Given the description of an element on the screen output the (x, y) to click on. 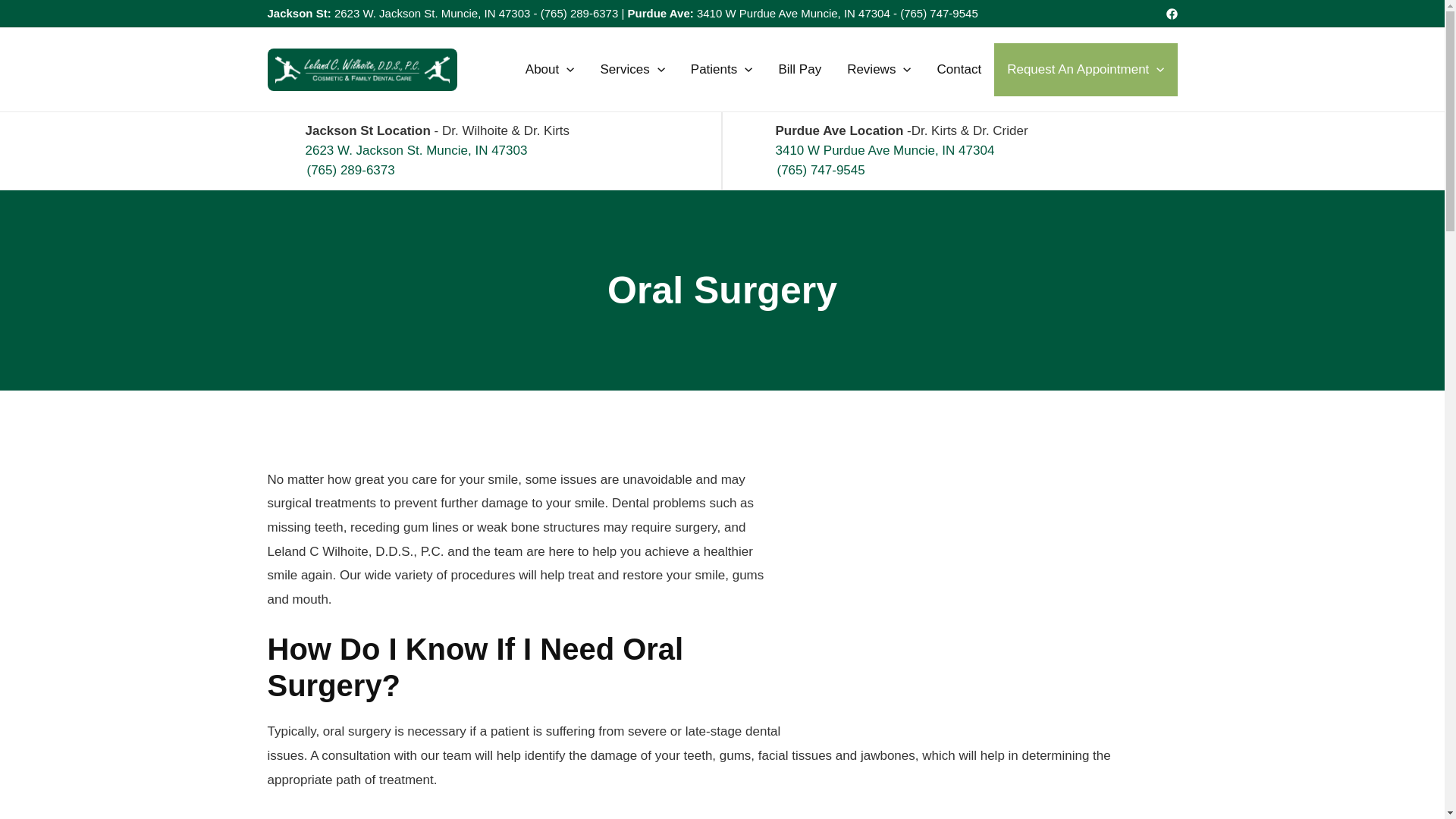
3410 W Purdue Ave Muncie, IN 47304 (793, 12)
About (550, 69)
2623 W. Jackson St. Muncie, IN 47303 (431, 12)
Services (631, 69)
